Given the description of an element on the screen output the (x, y) to click on. 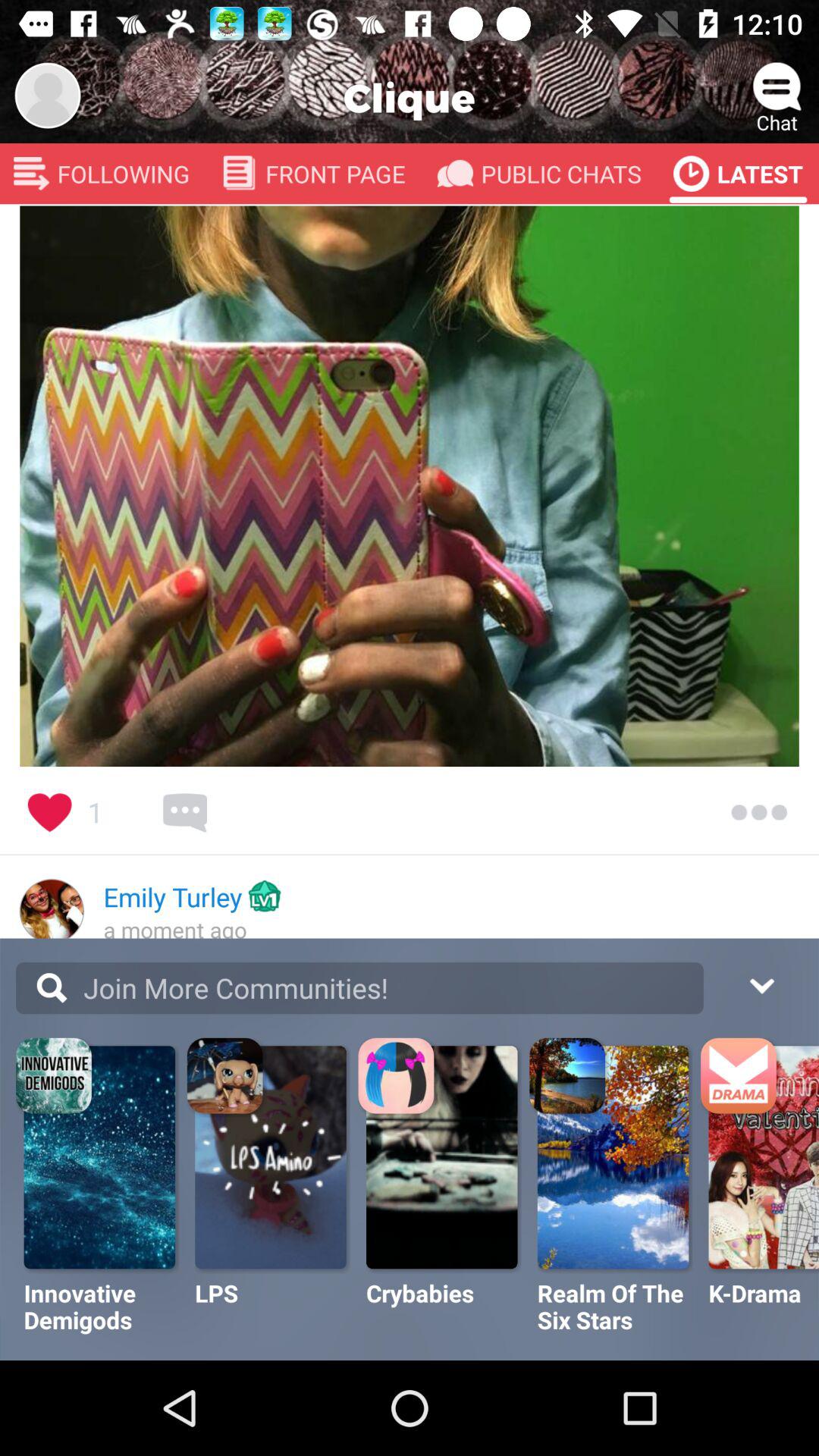
click on search bar (359, 988)
click on the icon of the public chats (455, 173)
select the image on top of innovative demigods text (101, 1157)
click on the image which is above realm of the six stars option (614, 1157)
click on the chat option which is on top of the text latest (777, 87)
